Given the description of an element on the screen output the (x, y) to click on. 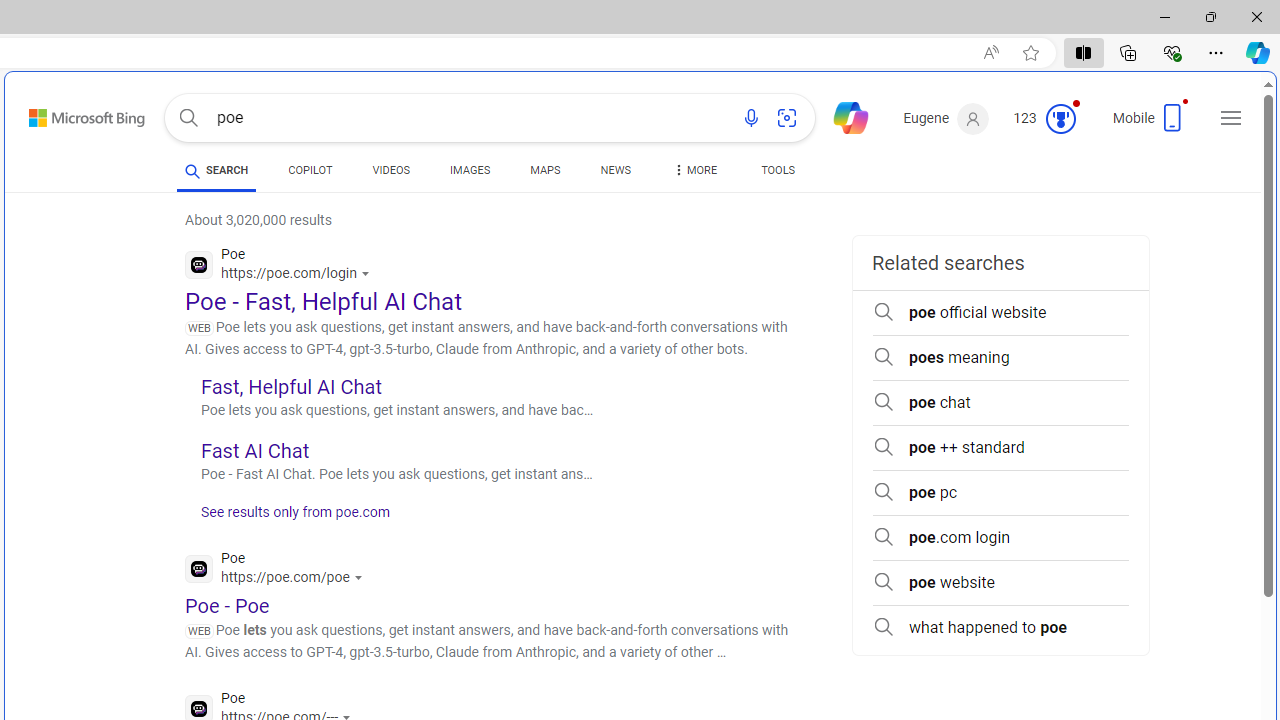
NEWS (614, 170)
MAPS (545, 173)
COPILOT (310, 173)
TOOLS (777, 170)
TOOLS (777, 173)
MORE (693, 173)
what happened to poe (1000, 628)
Search button (188, 117)
poe pc (1000, 492)
poe official website (1000, 312)
Class: medal-circled (1060, 118)
